Given the description of an element on the screen output the (x, y) to click on. 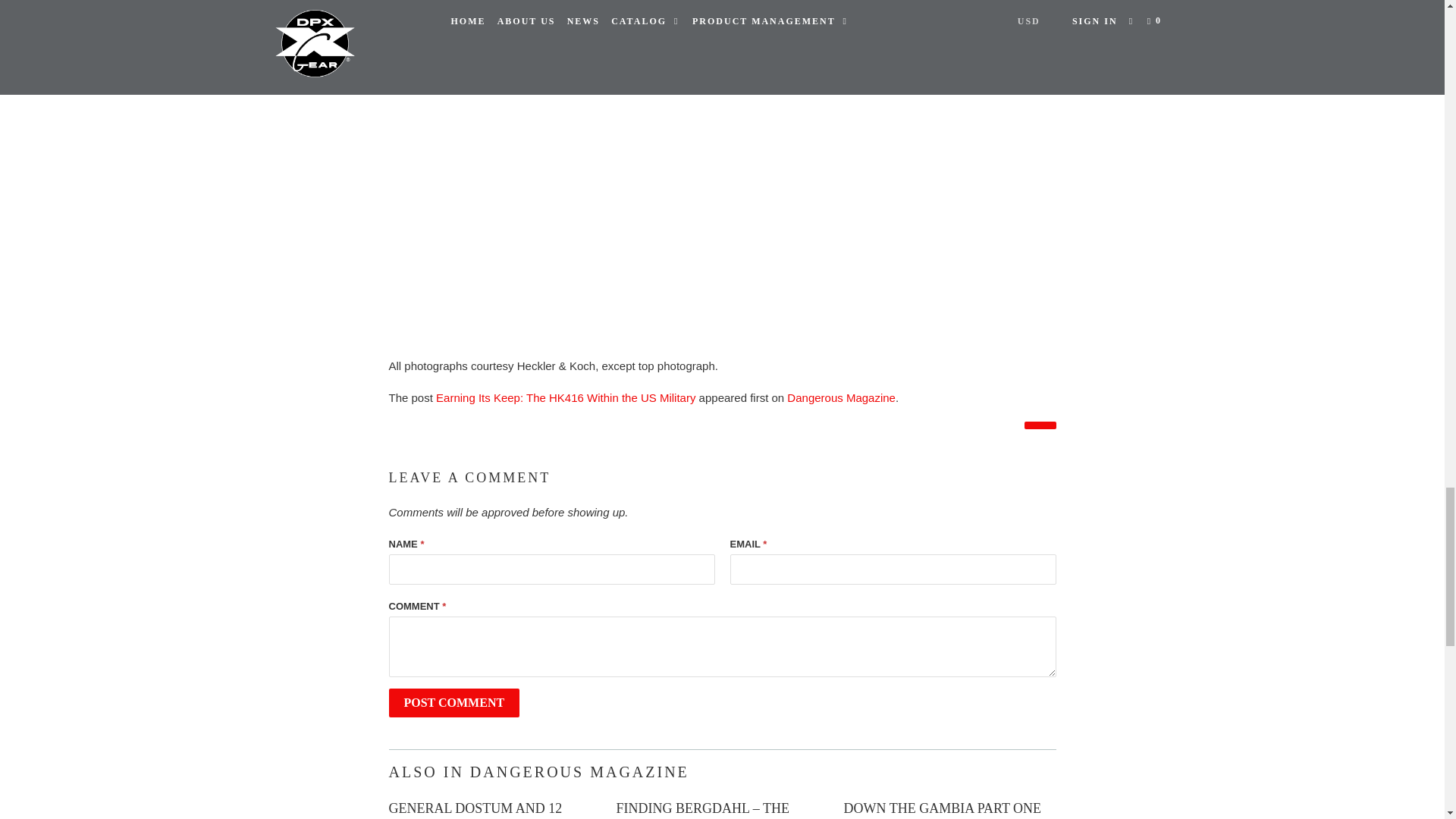
Post comment (453, 702)
Down The Gambia Part One (942, 807)
